Given the description of an element on the screen output the (x, y) to click on. 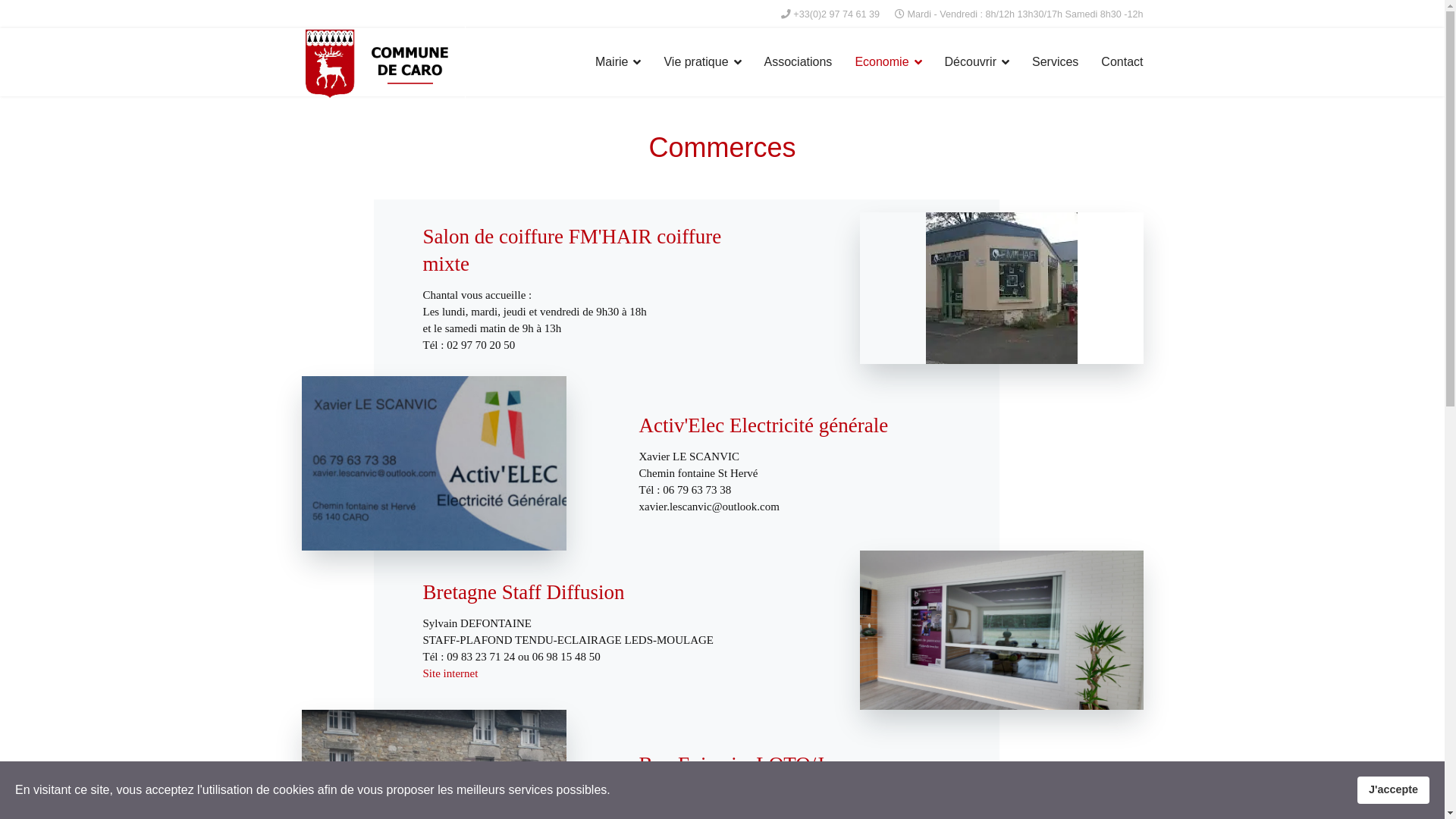
+33(0)2 97 74 61 39 Element type: text (836, 14)
Contact Element type: text (1121, 62)
Site internet Element type: text (450, 673)
J'accepte Element type: text (1393, 789)
Economie Element type: text (887, 62)
Vie pratique Element type: text (702, 62)
Associations Element type: text (798, 62)
Services Element type: text (1054, 62)
Mairie Element type: text (617, 62)
